Given the description of an element on the screen output the (x, y) to click on. 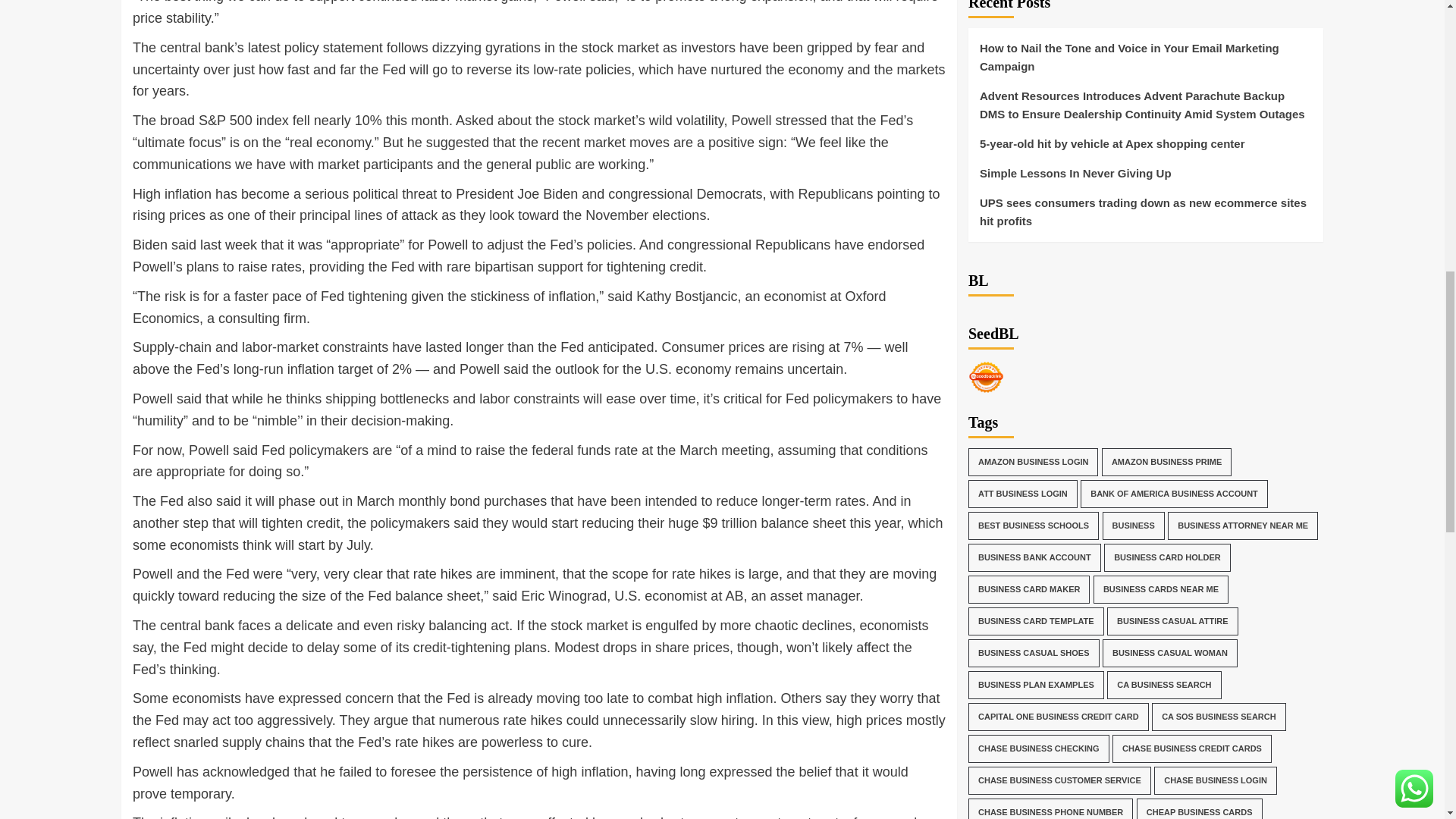
Seedbacklink (986, 314)
